Given the description of an element on the screen output the (x, y) to click on. 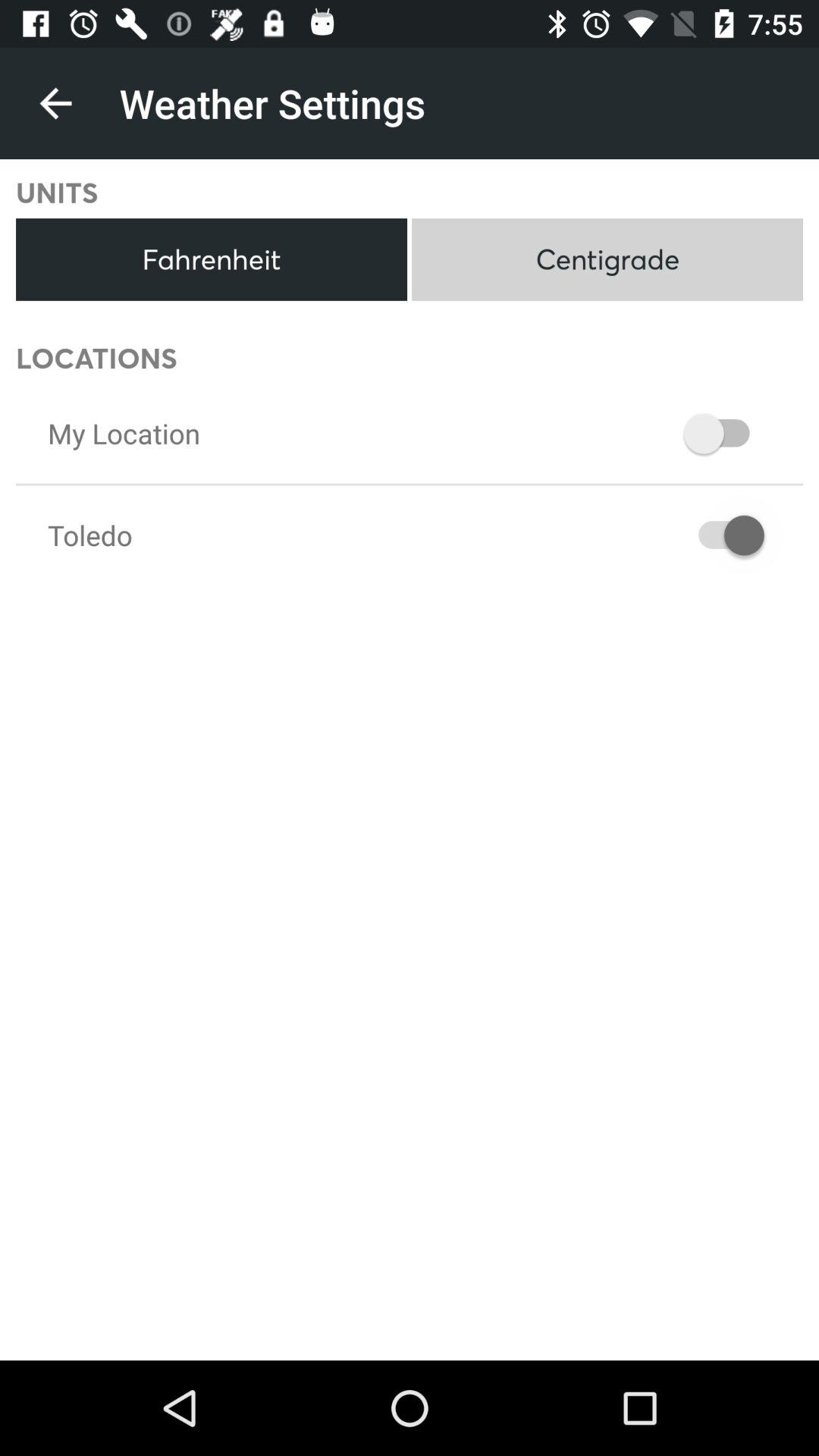
flip to the toledo item (89, 534)
